Given the description of an element on the screen output the (x, y) to click on. 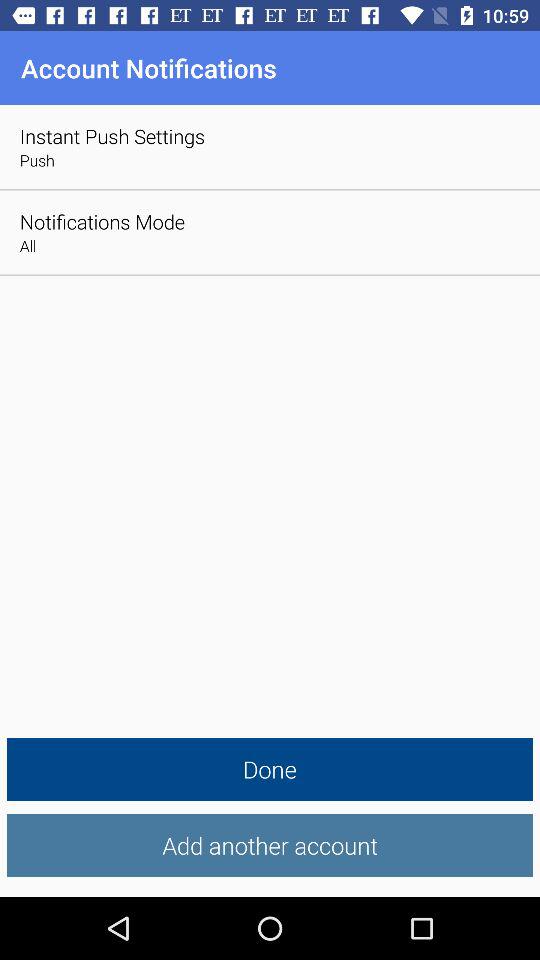
scroll until done button (269, 769)
